Given the description of an element on the screen output the (x, y) to click on. 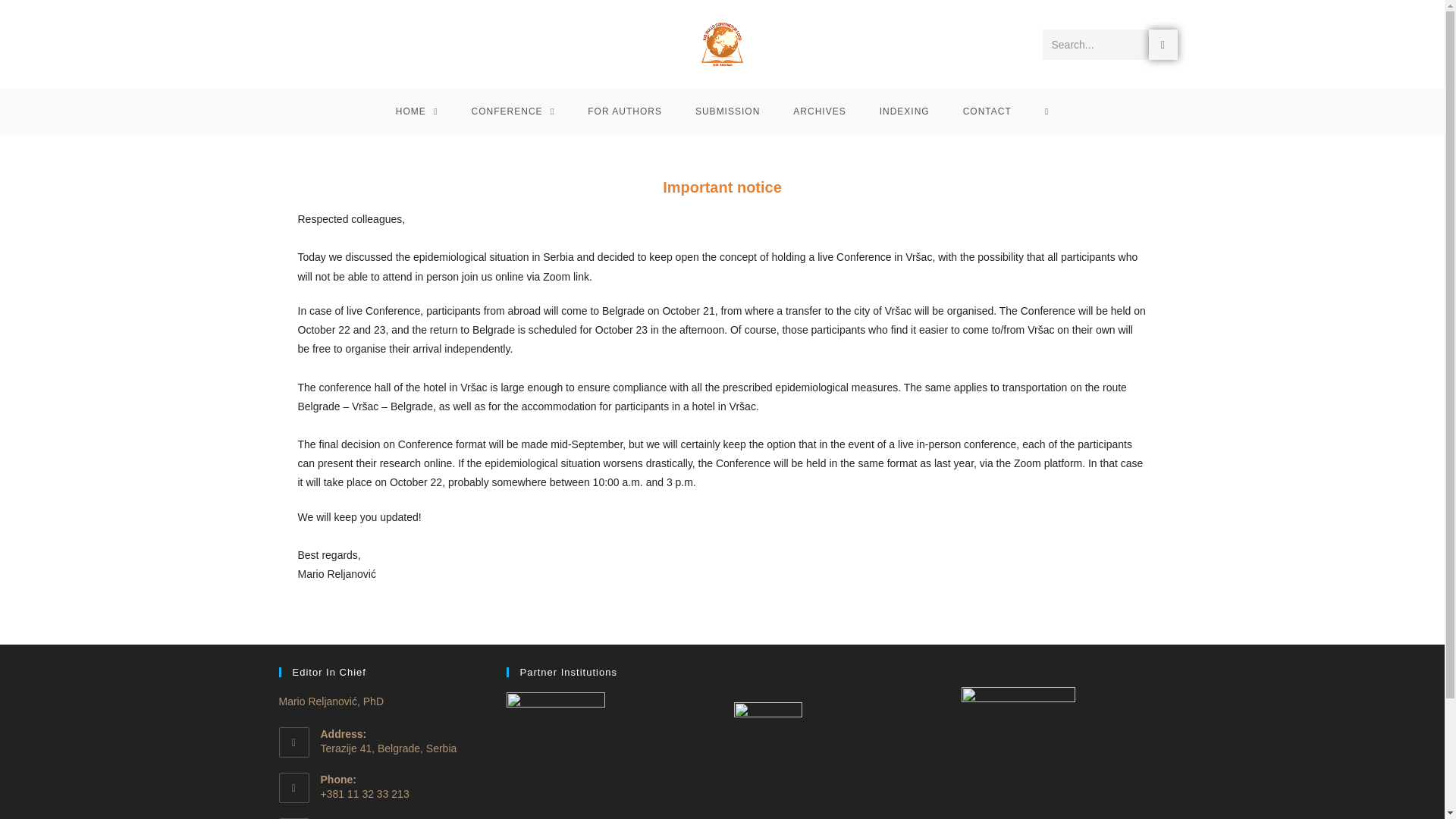
CONFERENCE (513, 111)
CONTACT (986, 111)
SUBMISSION (727, 111)
HOME (416, 111)
INDEXING (904, 111)
ARCHIVES (818, 111)
FOR AUTHORS (624, 111)
